Given the description of an element on the screen output the (x, y) to click on. 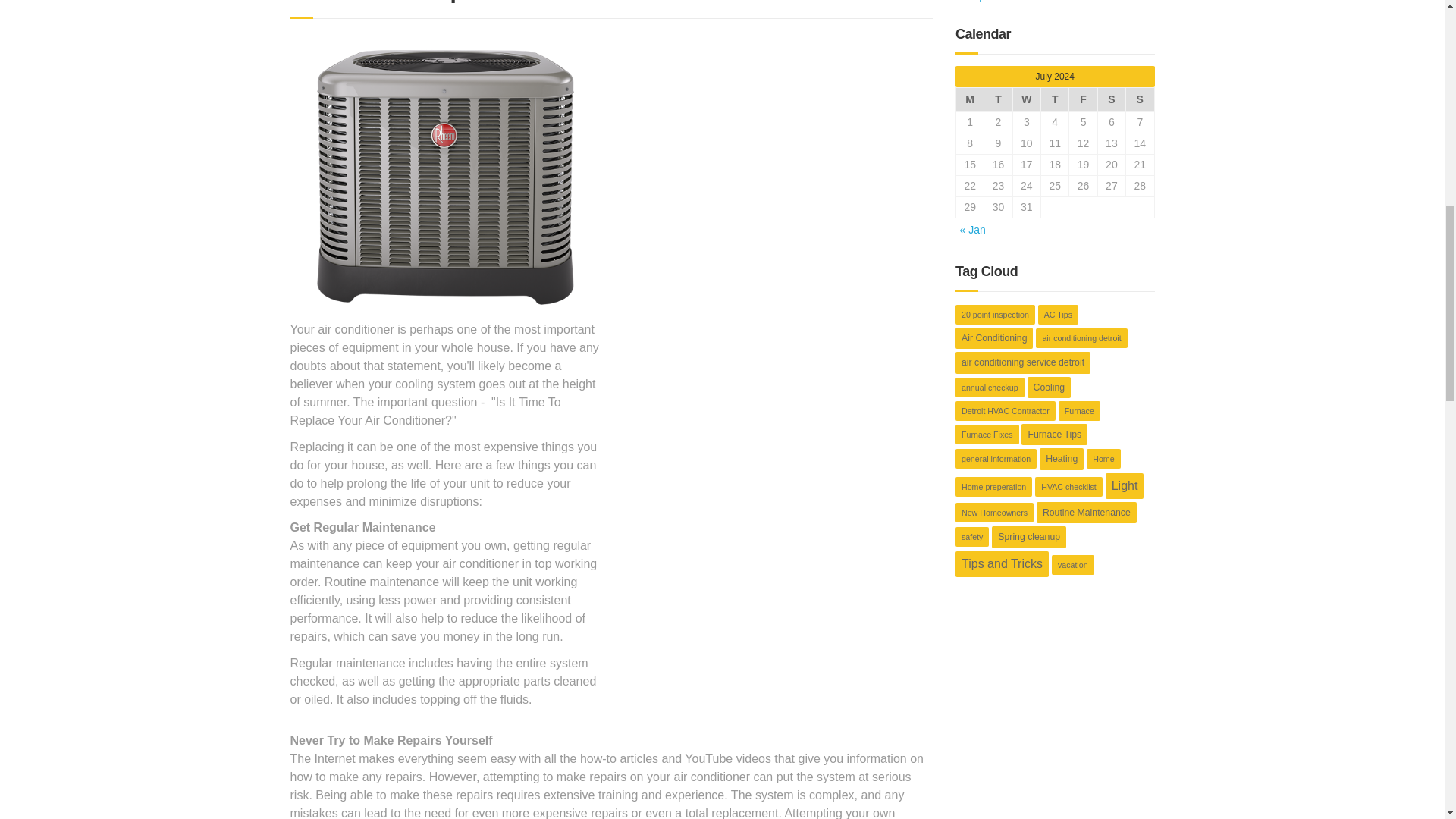
Monday (969, 98)
Wednesday (1026, 98)
Saturday (1111, 98)
Thursday (1054, 98)
Tuesday (997, 98)
Sunday (1139, 98)
Friday (1082, 98)
